Given the description of an element on the screen output the (x, y) to click on. 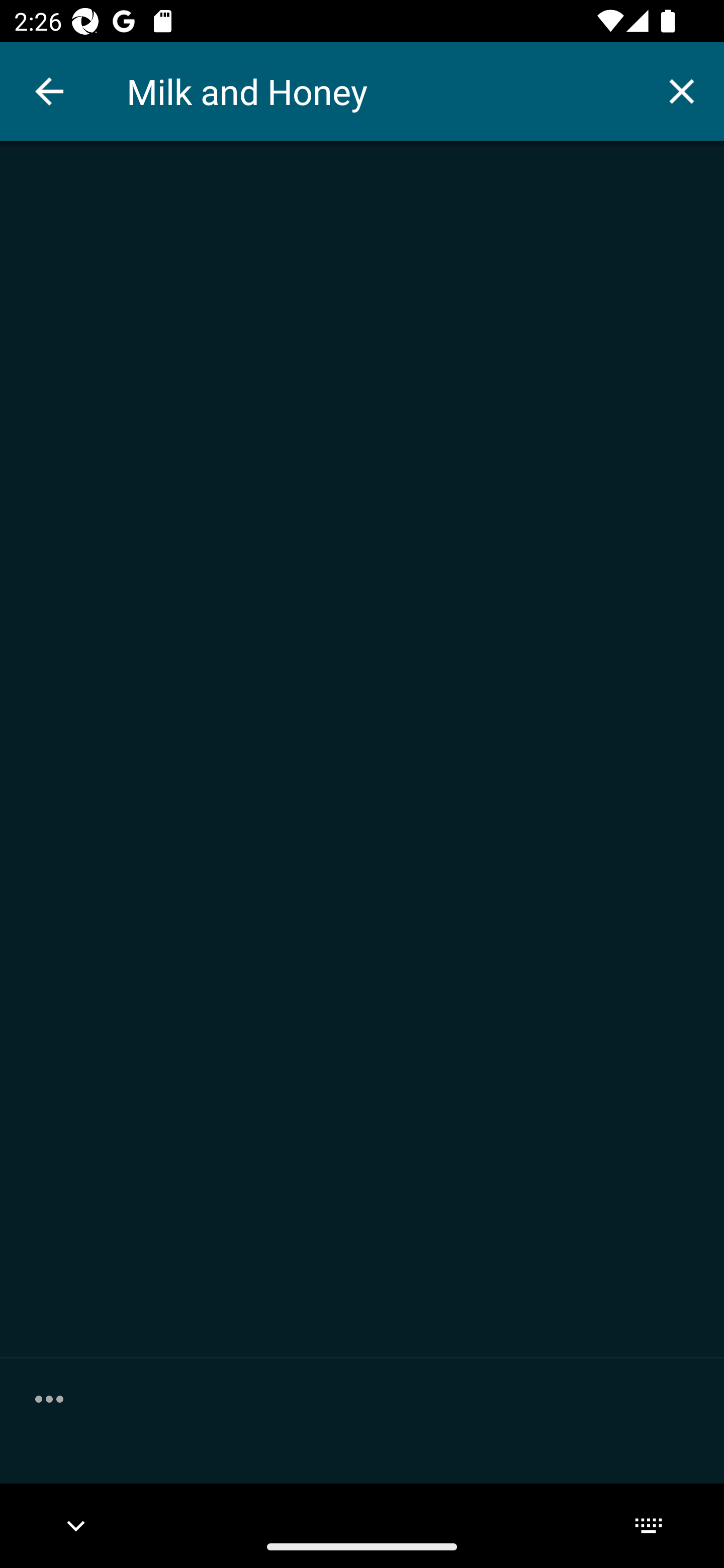
Back (49, 91)
Milk and Honey (382, 91)
Clear (681, 90)
Clear history (49, 1398)
